Given the description of an element on the screen output the (x, y) to click on. 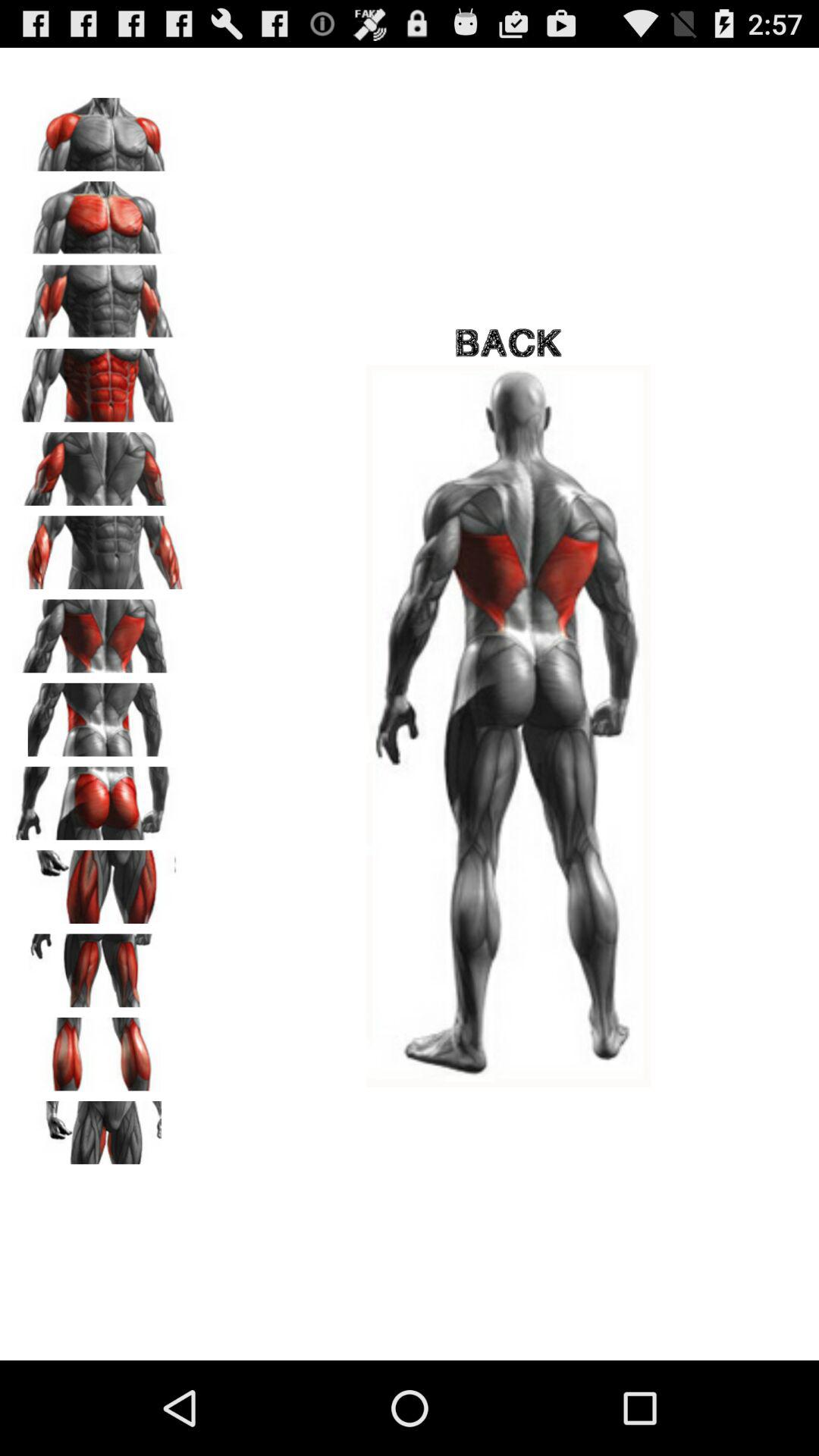
display figure (99, 463)
